Given the description of an element on the screen output the (x, y) to click on. 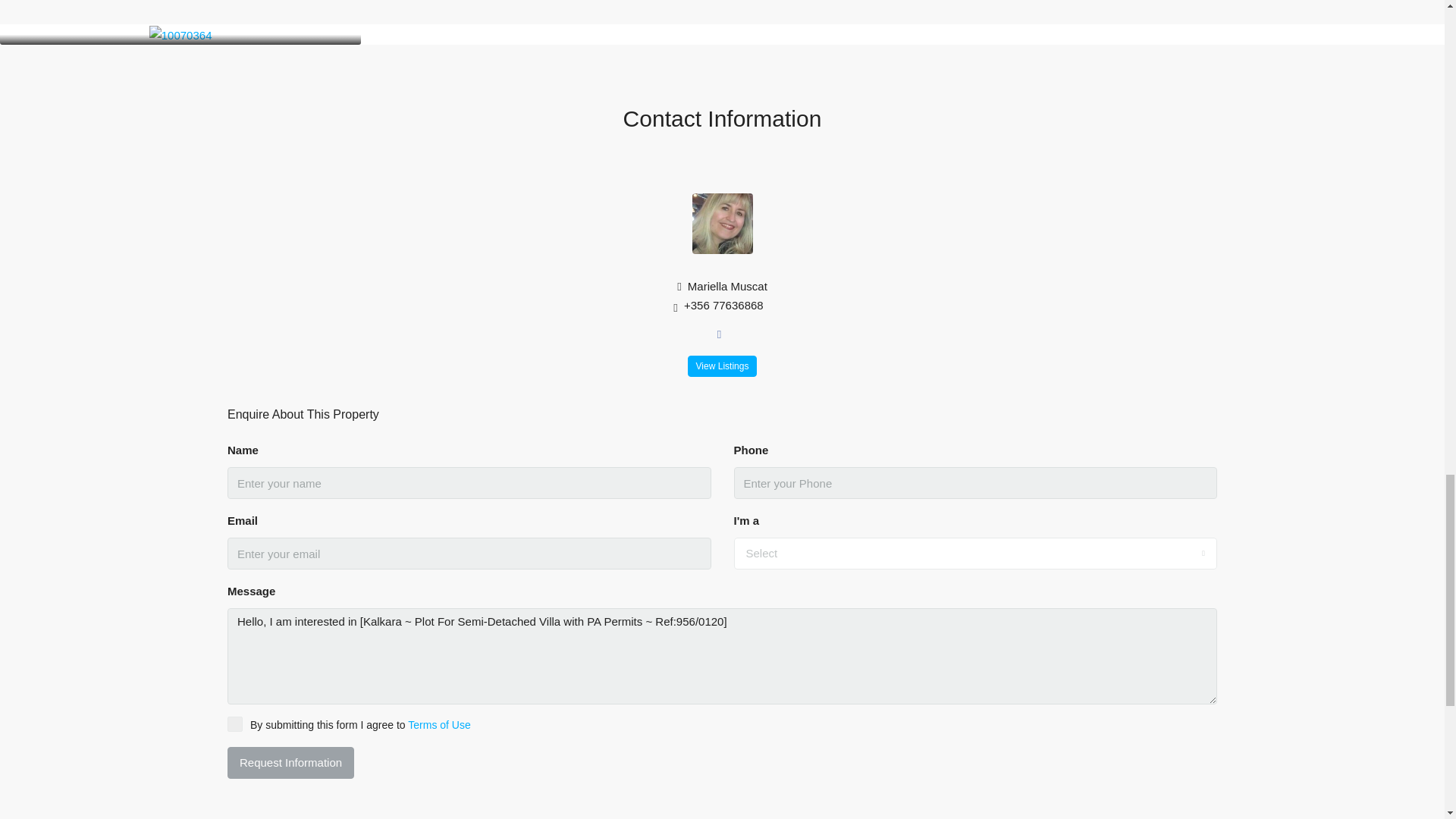
Select (975, 553)
